Given the description of an element on the screen output the (x, y) to click on. 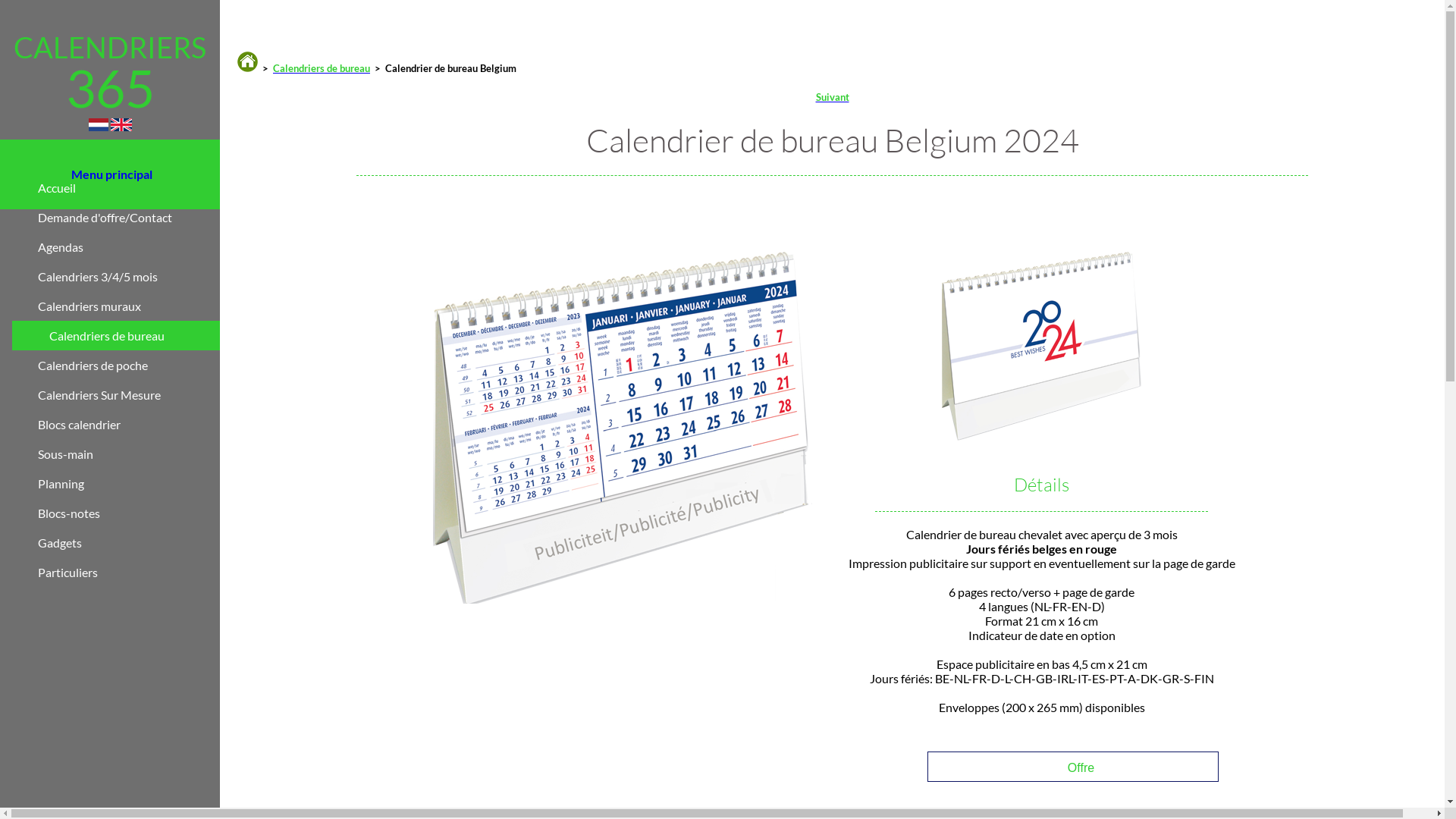
Blocs-notes Element type: text (128, 512)
Sous-main Element type: text (128, 453)
Calendriers de poche Element type: text (128, 364)
Blocs calendrier Element type: text (128, 424)
Planning Element type: text (128, 483)
Suivant Element type: text (832, 97)
Menu principal Element type: text (109, 176)
Calendriers muraux Element type: text (128, 305)
Agendas Element type: text (128, 246)
Accueil Element type: text (128, 187)
Offre Element type: text (1041, 766)
Calendriers de bureau Element type: text (321, 68)
Demande d'offre/Contact Element type: text (128, 217)
Calendriers Sur Mesure Element type: text (128, 394)
Particuliers Element type: text (128, 571)
Calendriers de bureau Element type: text (134, 335)
Calendriers 3/4/5 mois Element type: text (128, 276)
Offre Element type: text (1072, 766)
Gadgets Element type: text (128, 542)
